Given the description of an element on the screen output the (x, y) to click on. 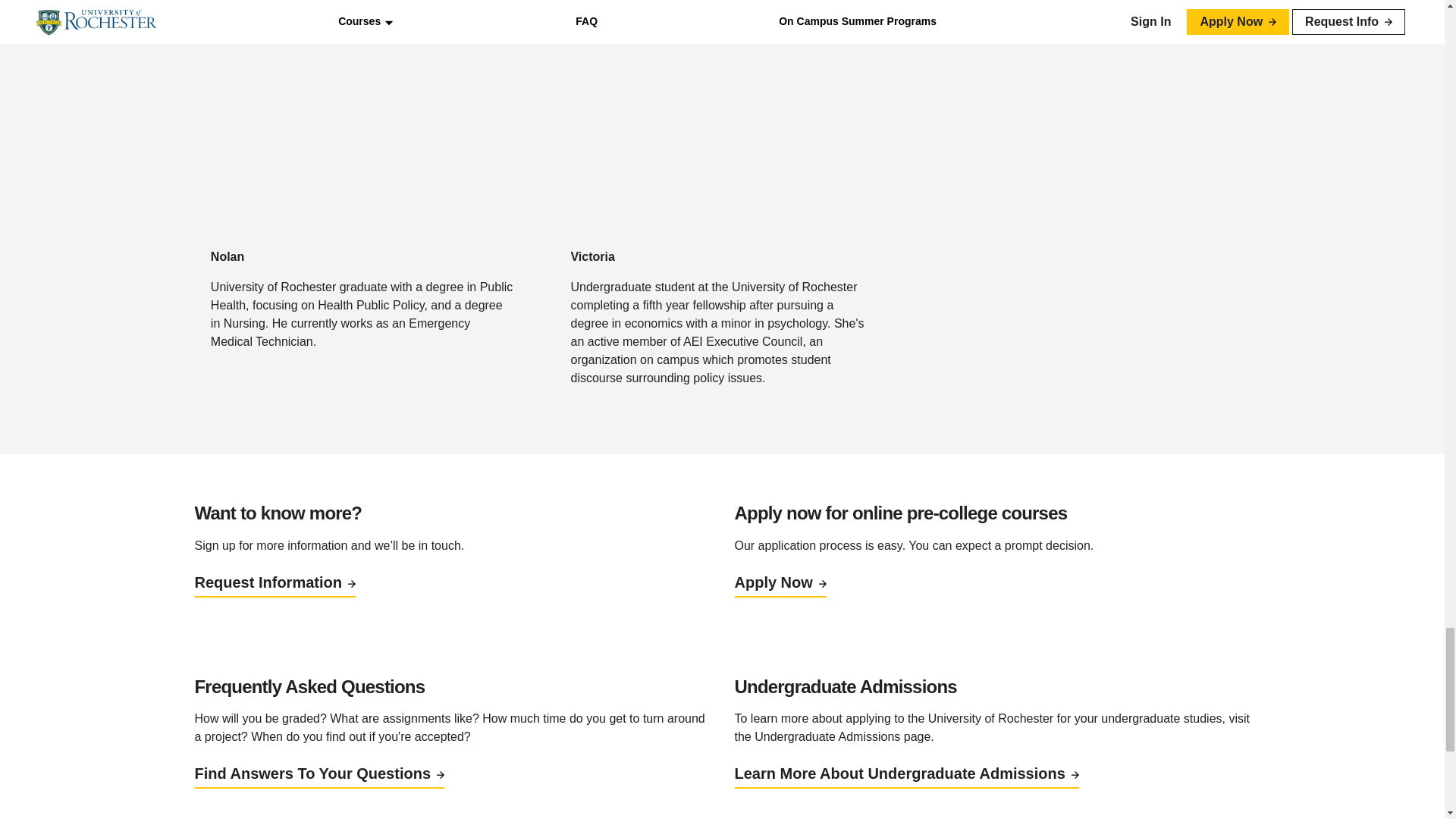
Find Answers To Your Questions (318, 773)
Learn More About Undergraduate Admissions (905, 773)
Apply Now (779, 582)
Request Information (274, 582)
